Given the description of an element on the screen output the (x, y) to click on. 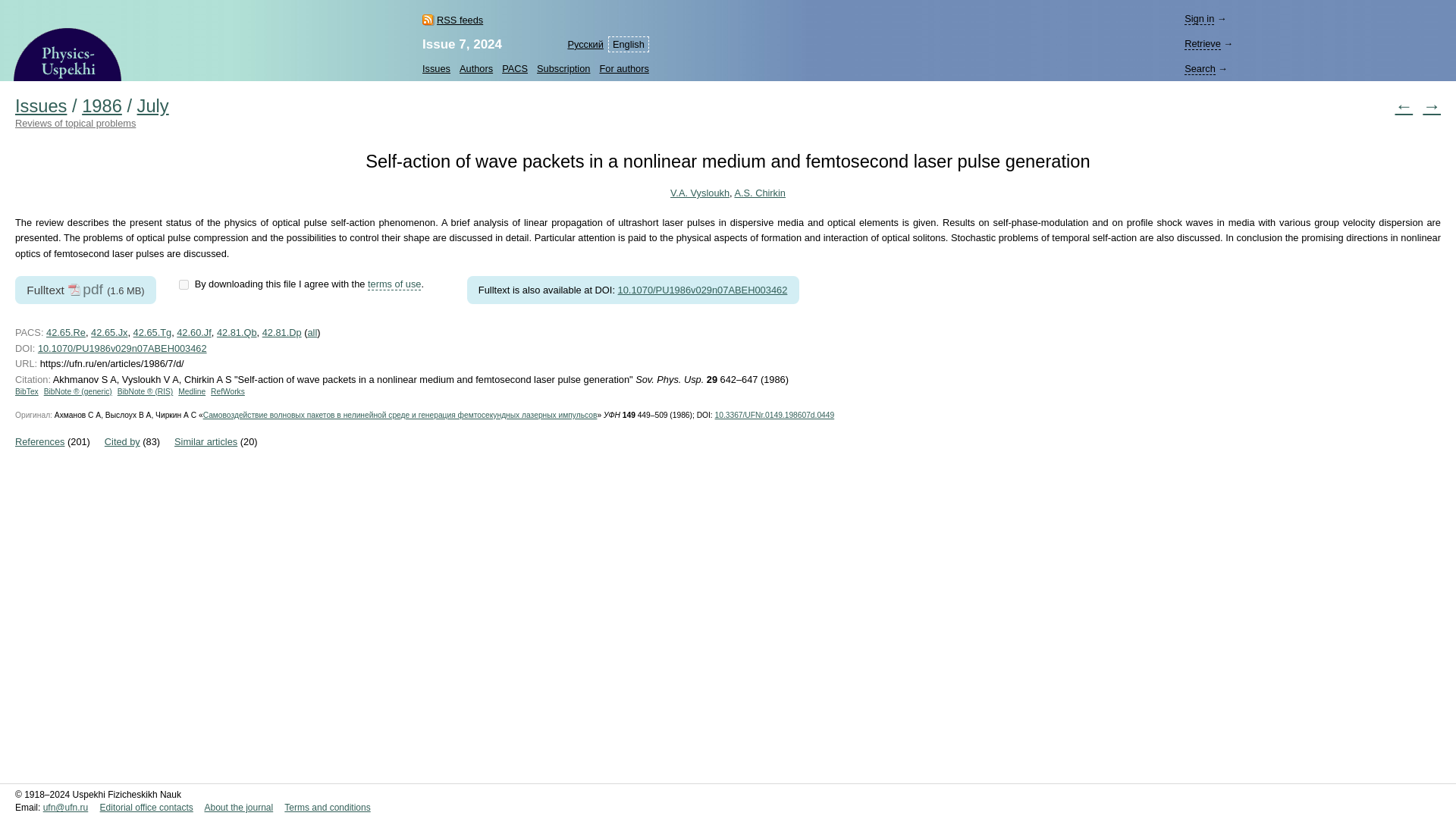
42.81.Qb (236, 332)
July (152, 106)
BibTex (26, 391)
PACS (514, 68)
Information for authors (620, 68)
Issues (40, 106)
For authors (620, 68)
42.65.Jx (109, 332)
Sign in (1199, 19)
